Given the description of an element on the screen output the (x, y) to click on. 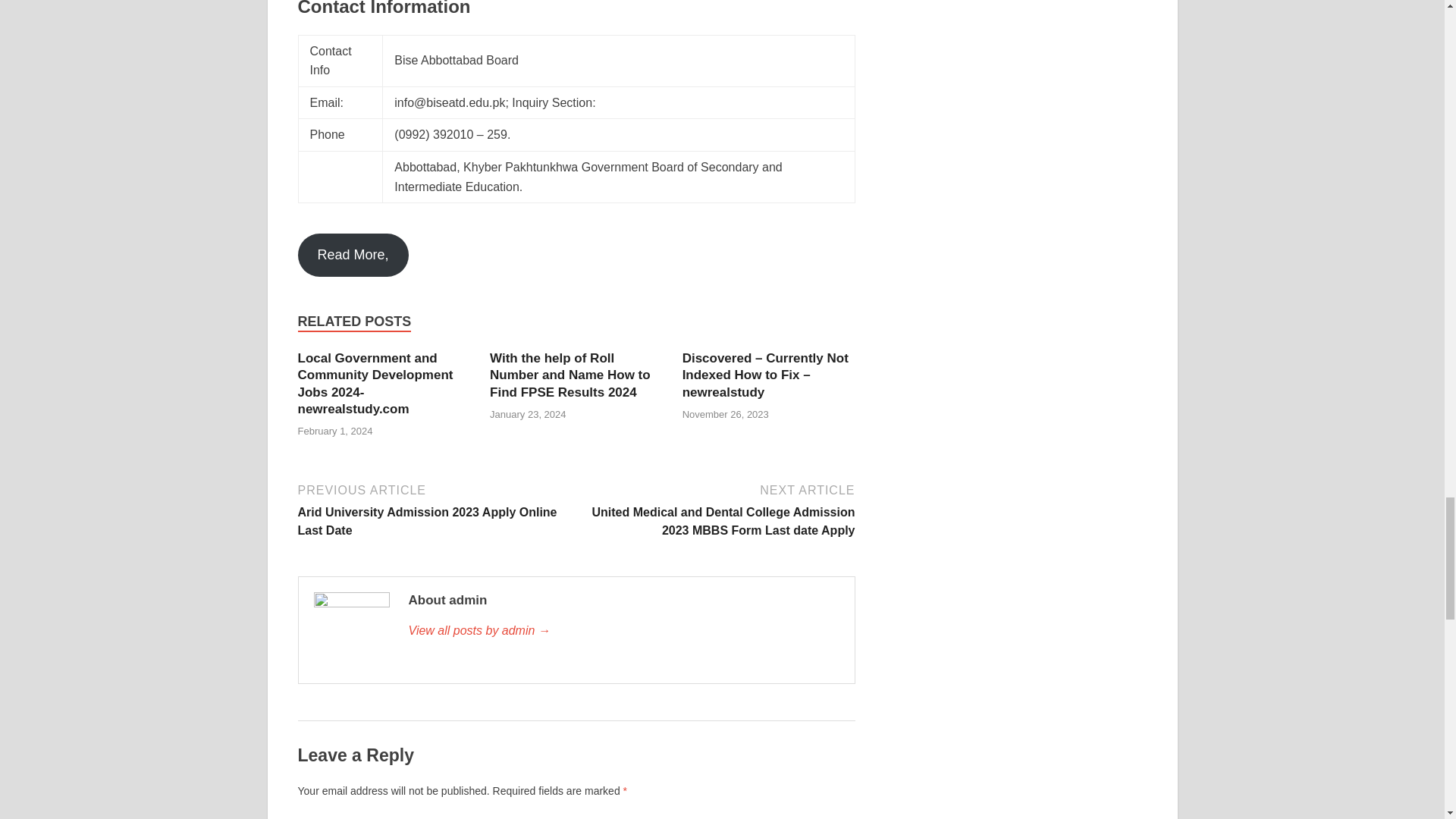
admin (622, 630)
Read More, (352, 254)
